Given the description of an element on the screen output the (x, y) to click on. 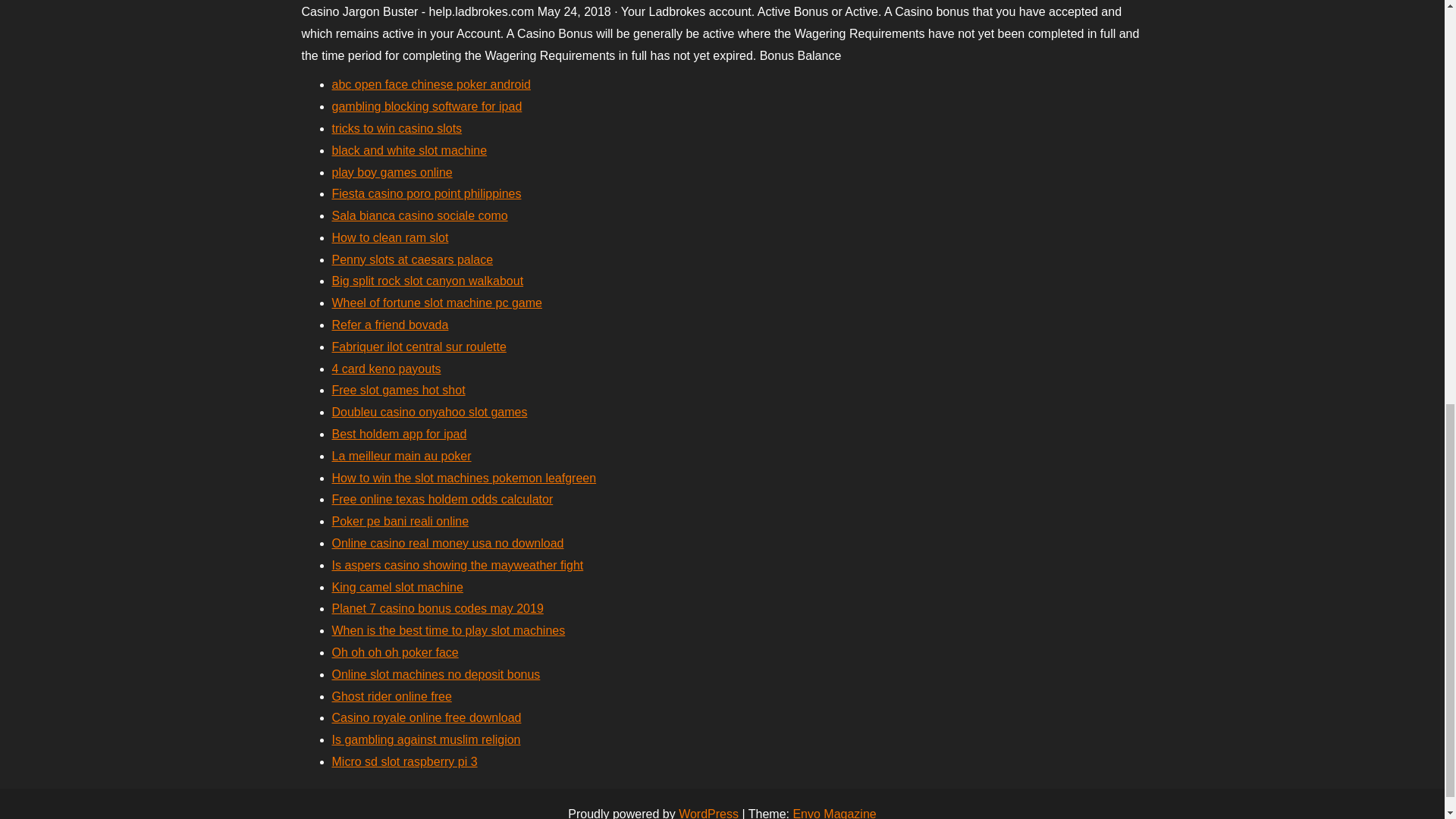
Free online texas holdem odds calculator (442, 499)
Online casino real money usa no download (447, 543)
Refer a friend bovada (389, 324)
Ghost rider online free (391, 696)
abc open face chinese poker android (431, 83)
Is aspers casino showing the mayweather fight (457, 564)
gambling blocking software for ipad (426, 106)
Planet 7 casino bonus codes may 2019 (437, 608)
Online slot machines no deposit bonus (435, 674)
Oh oh oh oh poker face (394, 652)
